Given the description of an element on the screen output the (x, y) to click on. 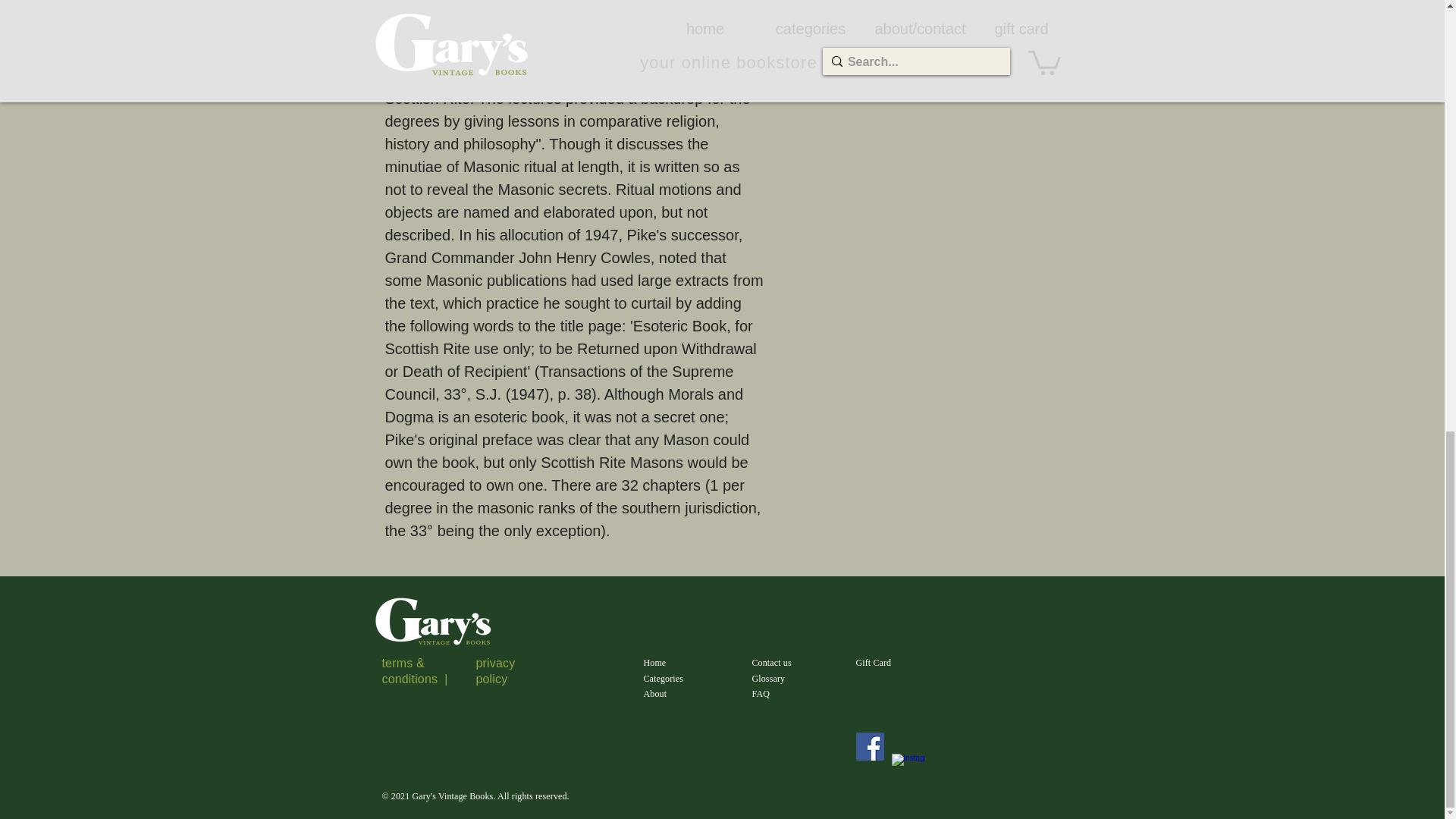
About (654, 693)
Home (654, 662)
Contact us (772, 662)
FAQ (761, 693)
Glossary (769, 678)
Gift Card (873, 662)
Categories (662, 678)
privacy policy (495, 670)
